Given the description of an element on the screen output the (x, y) to click on. 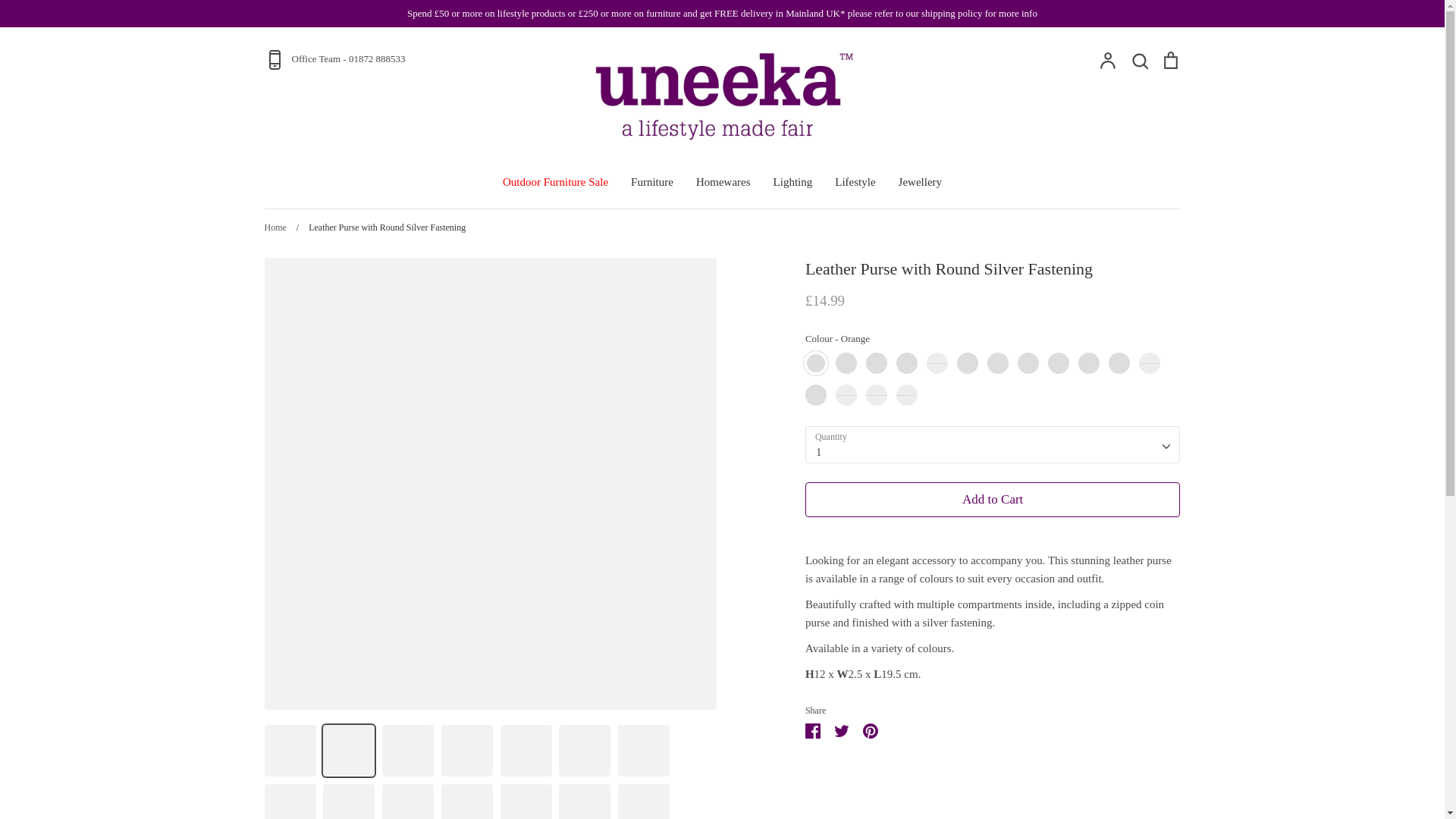
Account (1107, 59)
Office Team - 01872 888533 (414, 59)
Cart (1169, 59)
1 (992, 444)
Outdoor Furniture Sale (555, 182)
Search (1139, 59)
Furniture (651, 182)
